Given the description of an element on the screen output the (x, y) to click on. 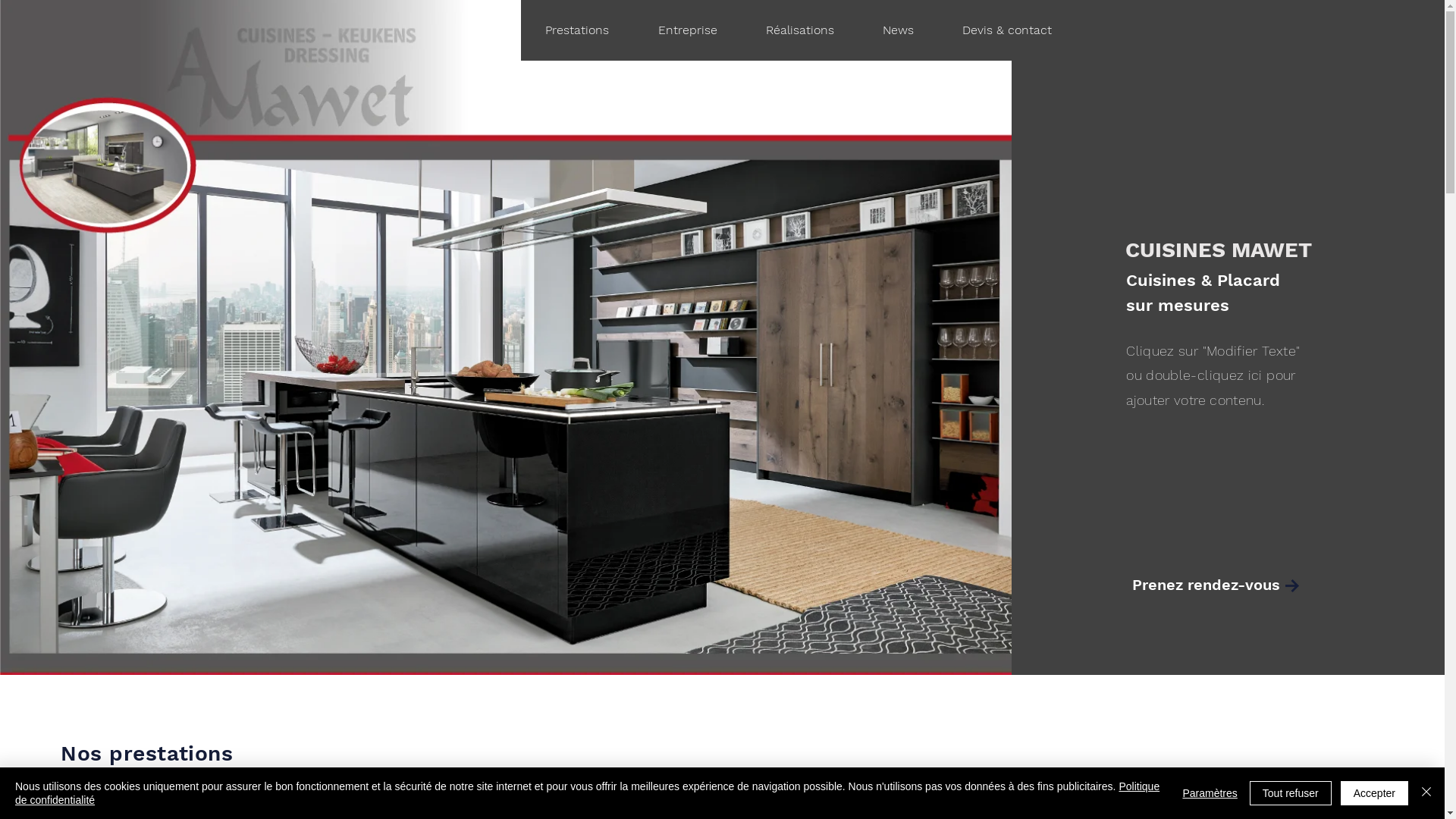
Entreprise Element type: text (686, 30)
Prenez rendez-vous Element type: text (1208, 584)
Devis & contact Element type: text (1006, 30)
News Element type: text (897, 30)
Accepter Element type: text (1374, 793)
Prestations Element type: text (576, 30)
Tout refuser Element type: text (1290, 793)
